Given the description of an element on the screen output the (x, y) to click on. 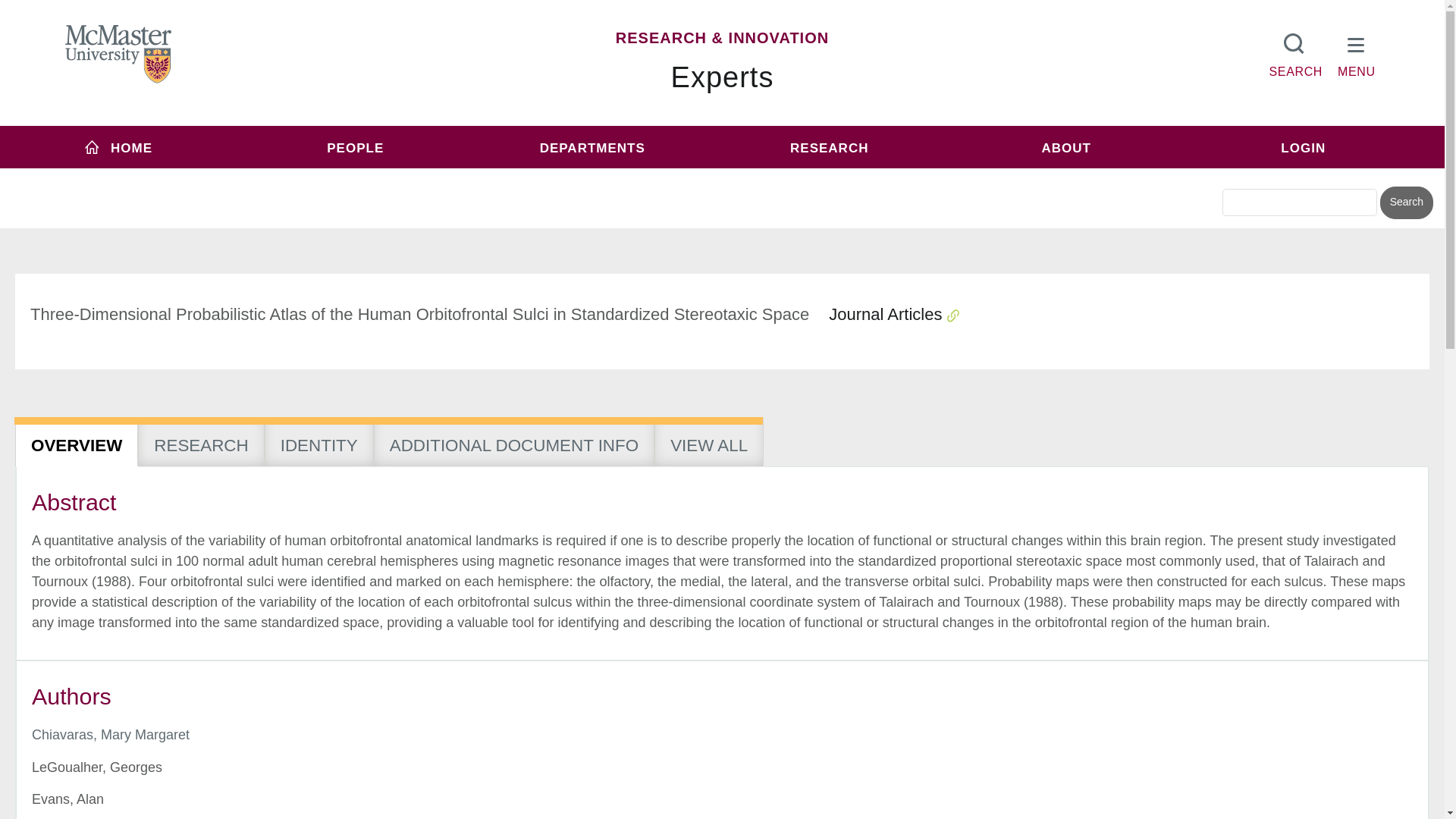
McMaster Univeristy Logo (118, 54)
About menu item (1066, 147)
Home menu item (118, 147)
MCMASTER LOGO (118, 54)
Departments menu item (592, 147)
author name (110, 734)
Experts (722, 77)
Research menu item (829, 147)
People menu item (355, 147)
Search (1406, 202)
